Given the description of an element on the screen output the (x, y) to click on. 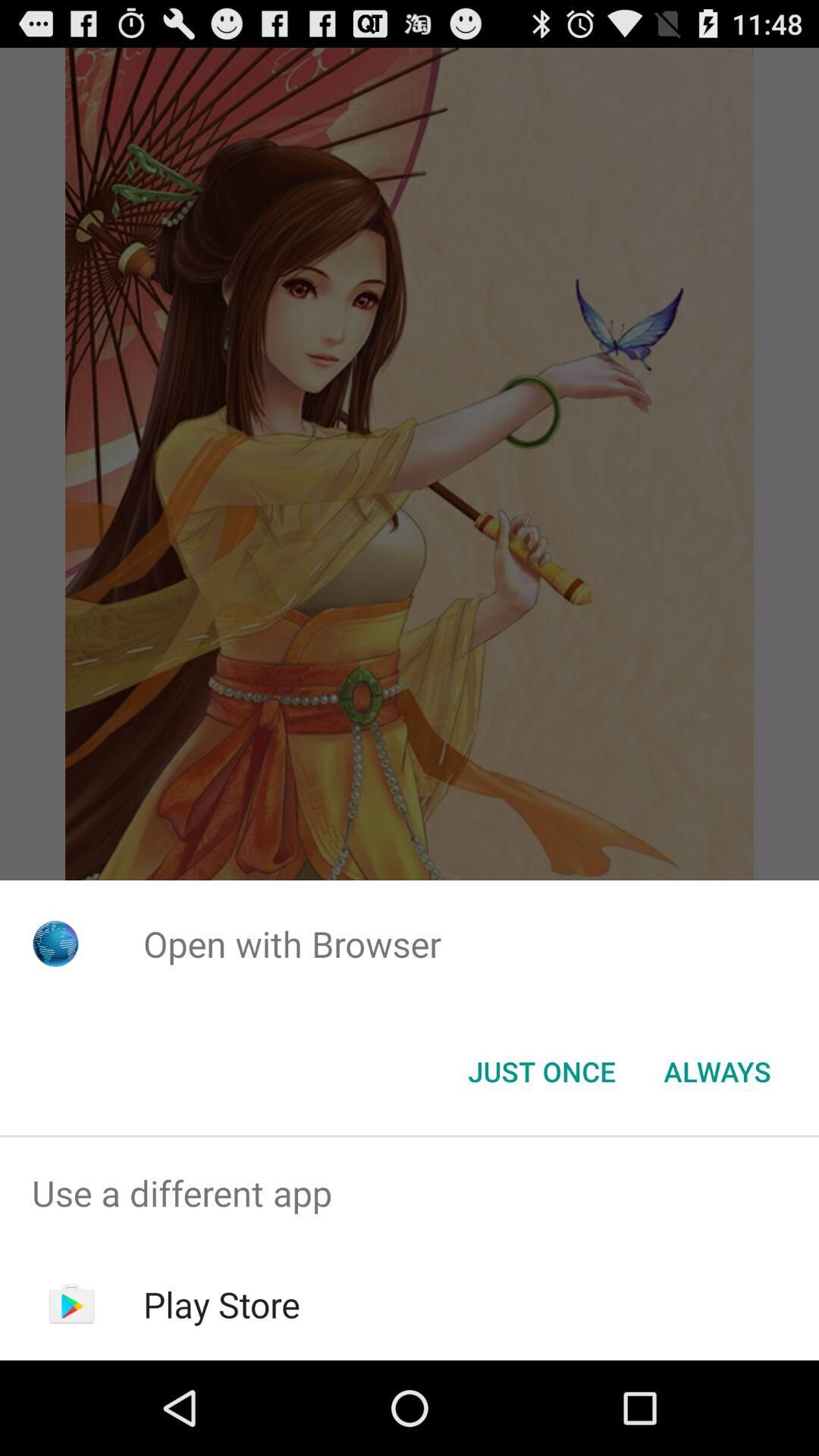
flip to the just once item (541, 1071)
